Given the description of an element on the screen output the (x, y) to click on. 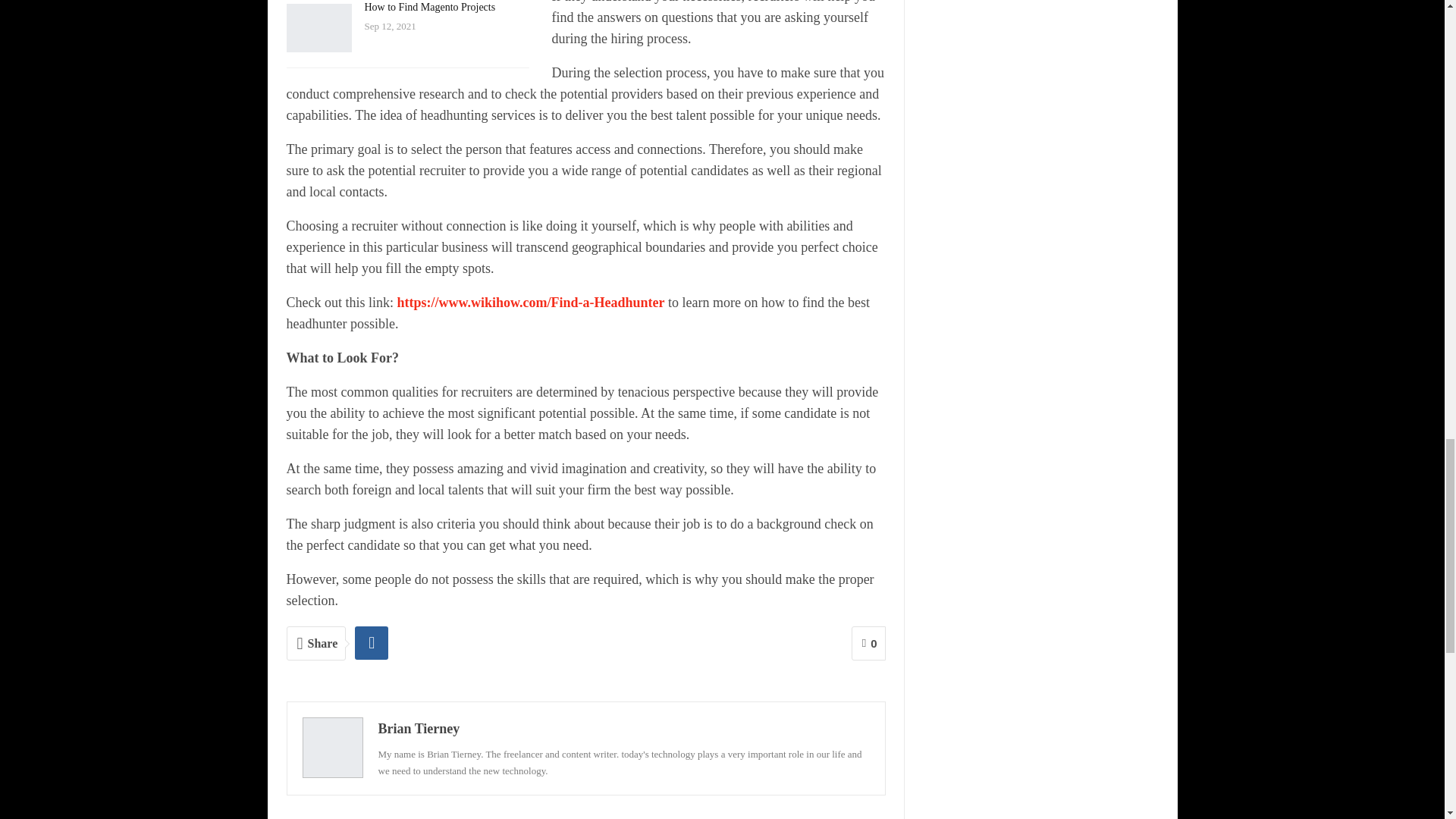
How to Find Magento Projects (319, 28)
0 (868, 643)
How to Find Magento Projects (429, 7)
Brian Tierney (418, 728)
